Given the description of an element on the screen output the (x, y) to click on. 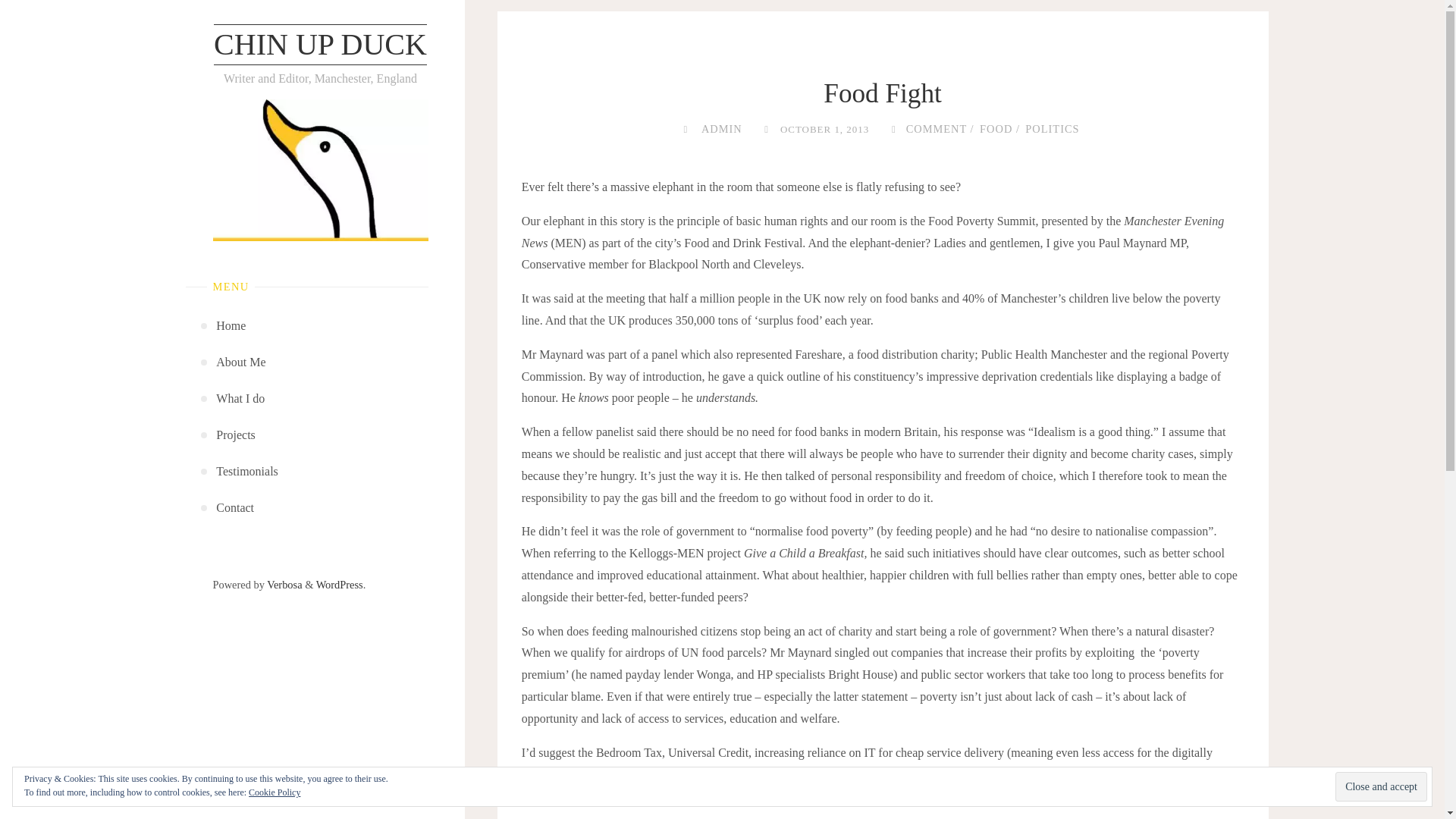
Contact (234, 507)
Categories (893, 128)
What I do (239, 398)
Writer and Editor, Manchester, England (320, 44)
WordPress (338, 584)
Cookie Policy (273, 792)
Author (685, 128)
Projects (235, 434)
CHIN UP DUCK (320, 44)
Close and accept (1380, 786)
Testimonials (246, 471)
Verbosa WordPress Theme by Cryout Creations (283, 584)
ADMIN (720, 128)
About Me (239, 361)
Close and accept (1380, 786)
